Given the description of an element on the screen output the (x, y) to click on. 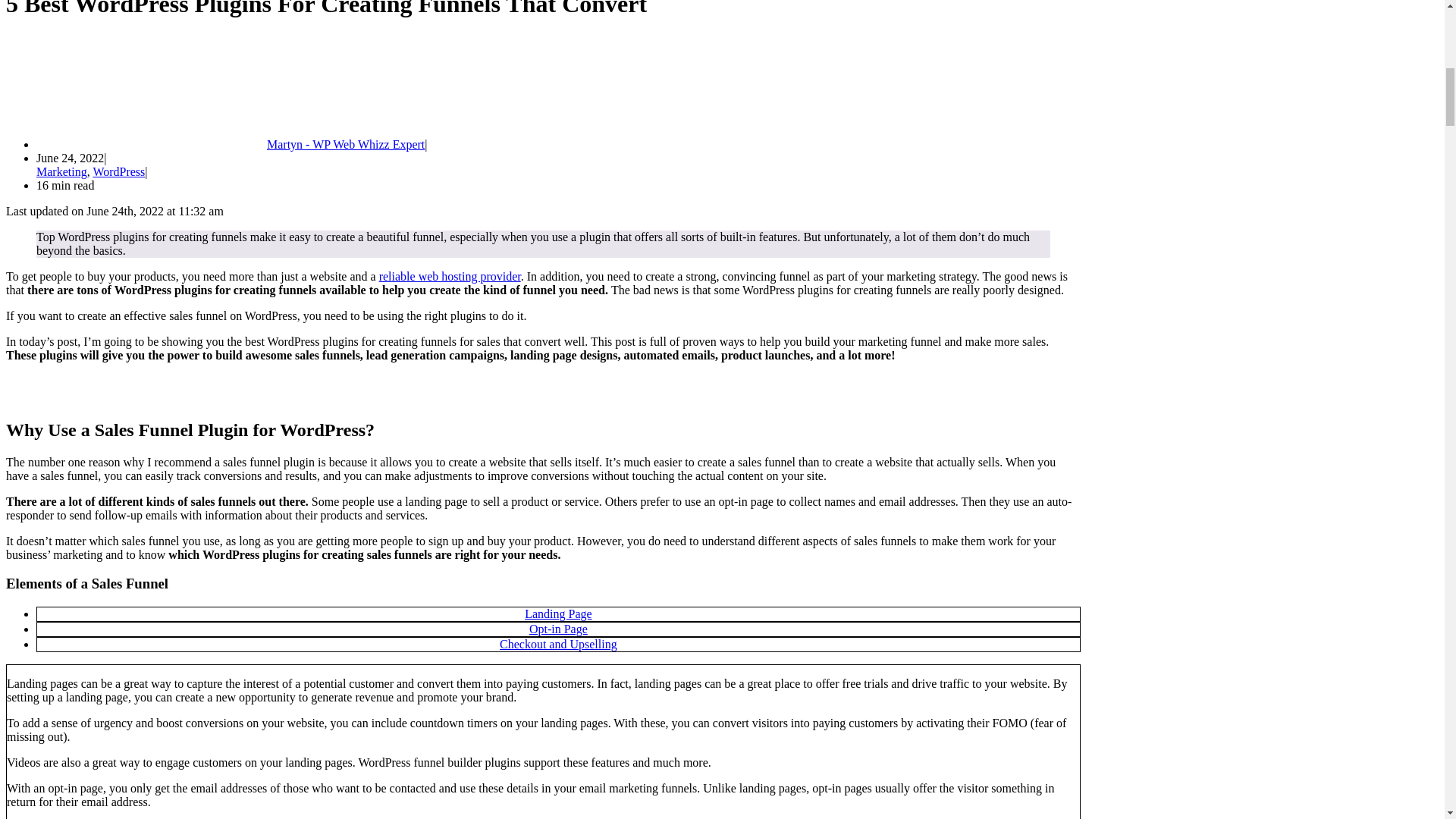
Posts by Martyn - WP Web Whizz Expert (345, 144)
